Given the description of an element on the screen output the (x, y) to click on. 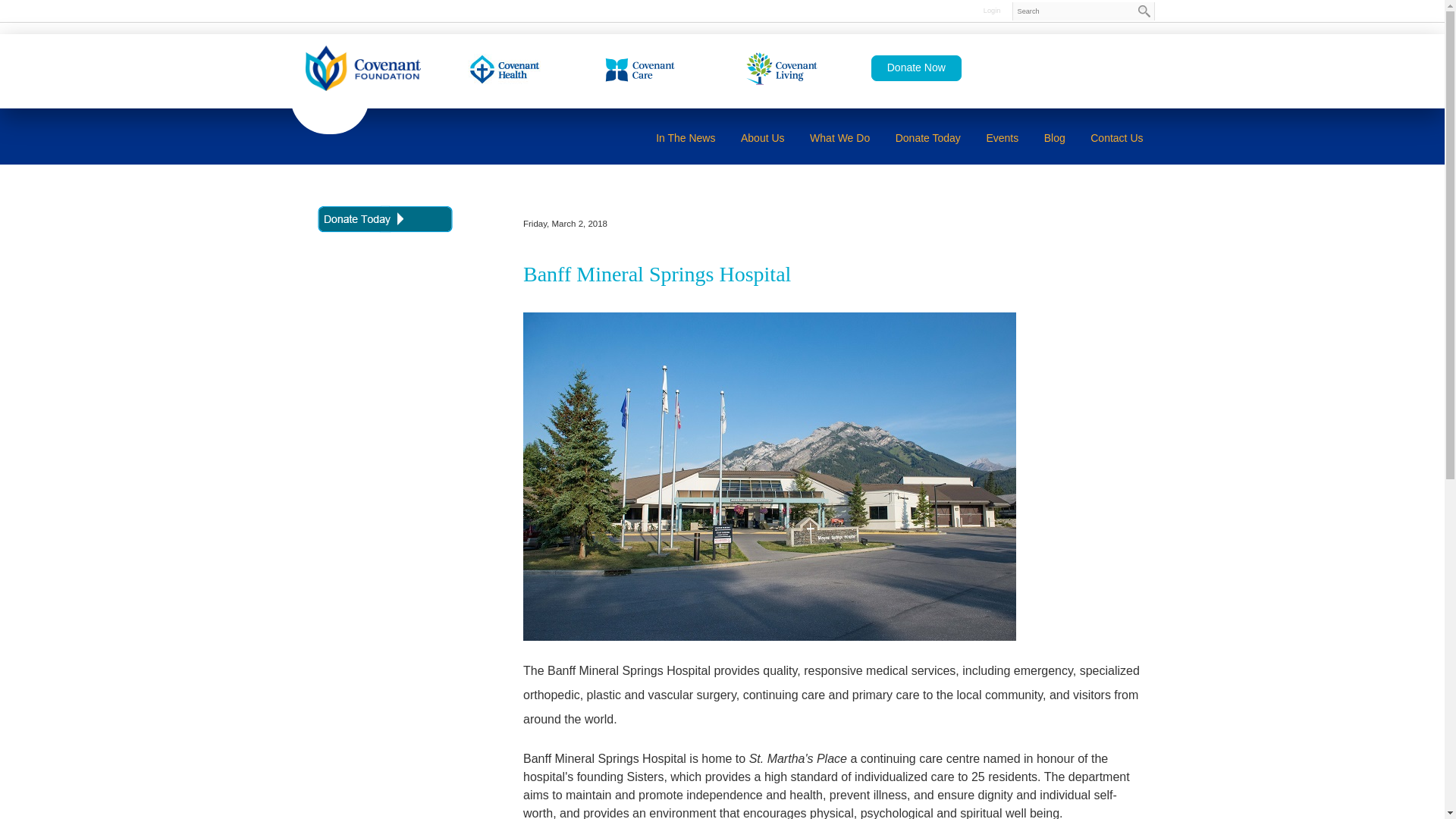
Events (1001, 137)
Blog (1054, 137)
About Us (762, 137)
Contact Us (1116, 137)
Donate Today (927, 137)
Donate Now (915, 68)
In The News (685, 137)
What We Do (838, 137)
Login (991, 11)
